Given the description of an element on the screen output the (x, y) to click on. 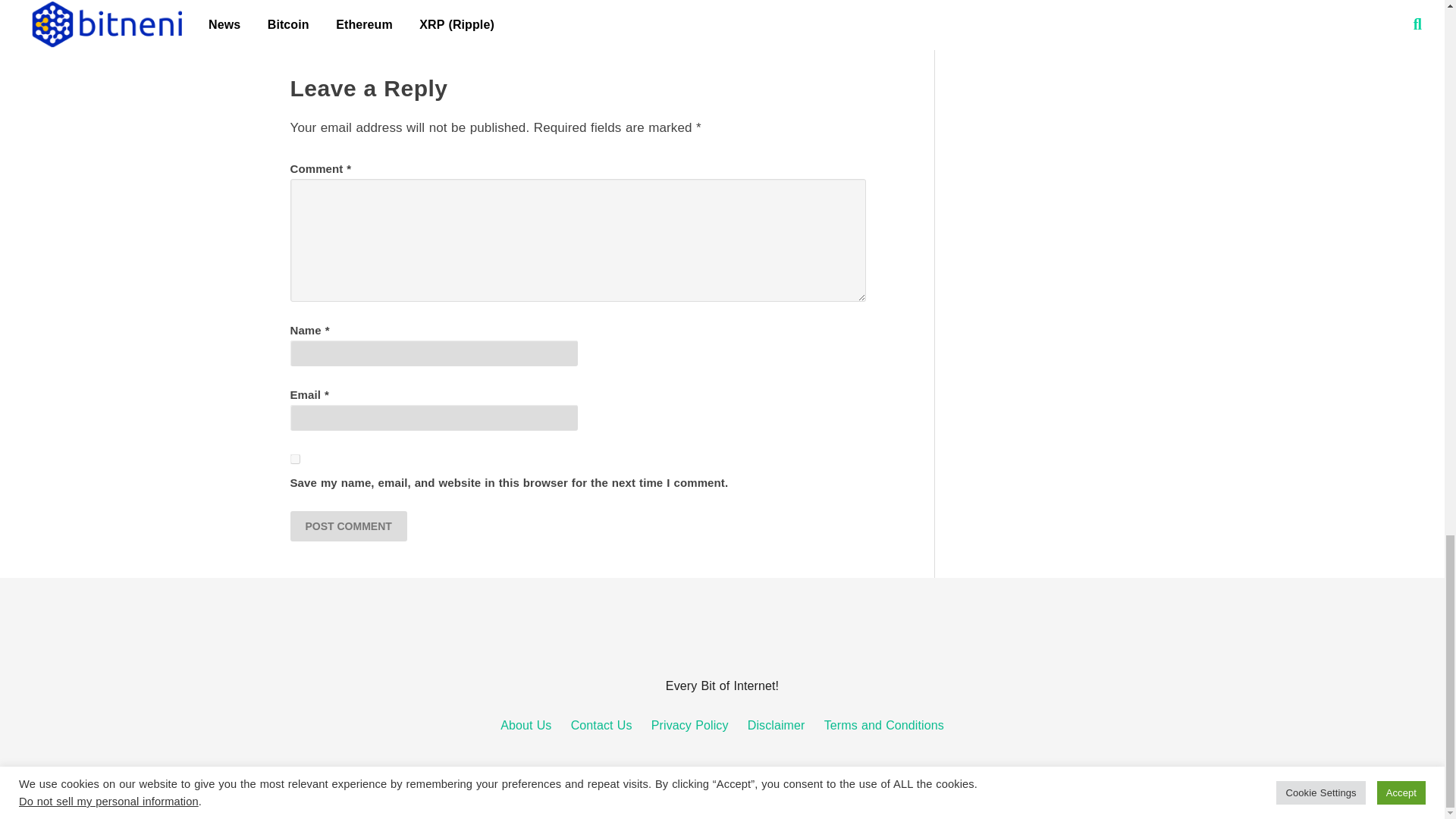
Post Comment (347, 526)
About Us (525, 725)
Privacy Policy (689, 725)
yes (294, 459)
Disclaimer (776, 725)
Terms and Conditions (883, 725)
Contact Us (600, 725)
Post Comment (347, 526)
